Given the description of an element on the screen output the (x, y) to click on. 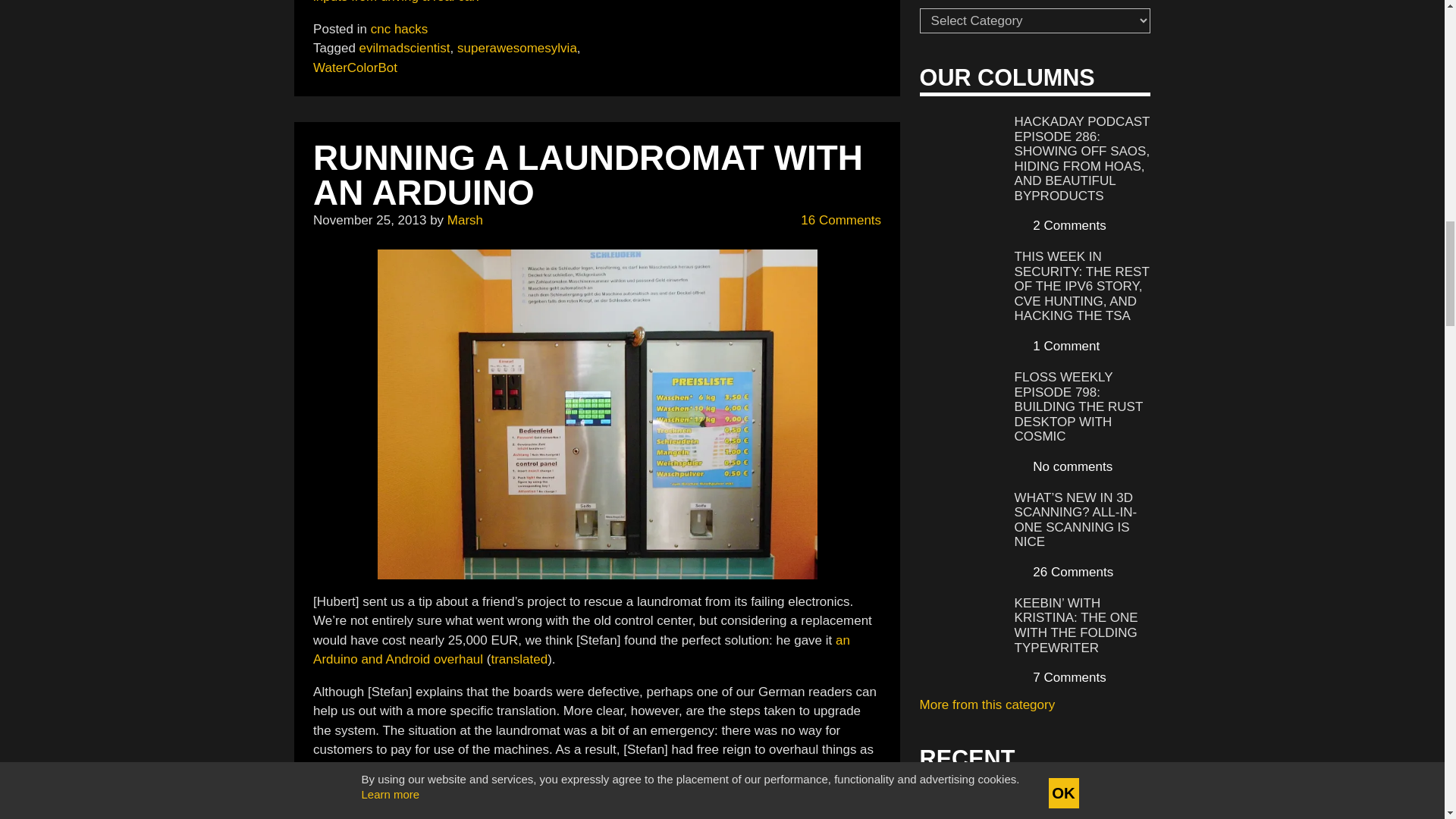
November 25, 2013 - 4:01 pm (369, 219)
Posts by Marsh (464, 219)
November 25, 2013 (369, 219)
evilmadscientist (404, 47)
superawesomesylvia (516, 47)
RUNNING A LAUNDROMAT WITH AN ARDUINO (588, 175)
cnc hacks (399, 29)
WaterColorBot (355, 67)
